Given the description of an element on the screen output the (x, y) to click on. 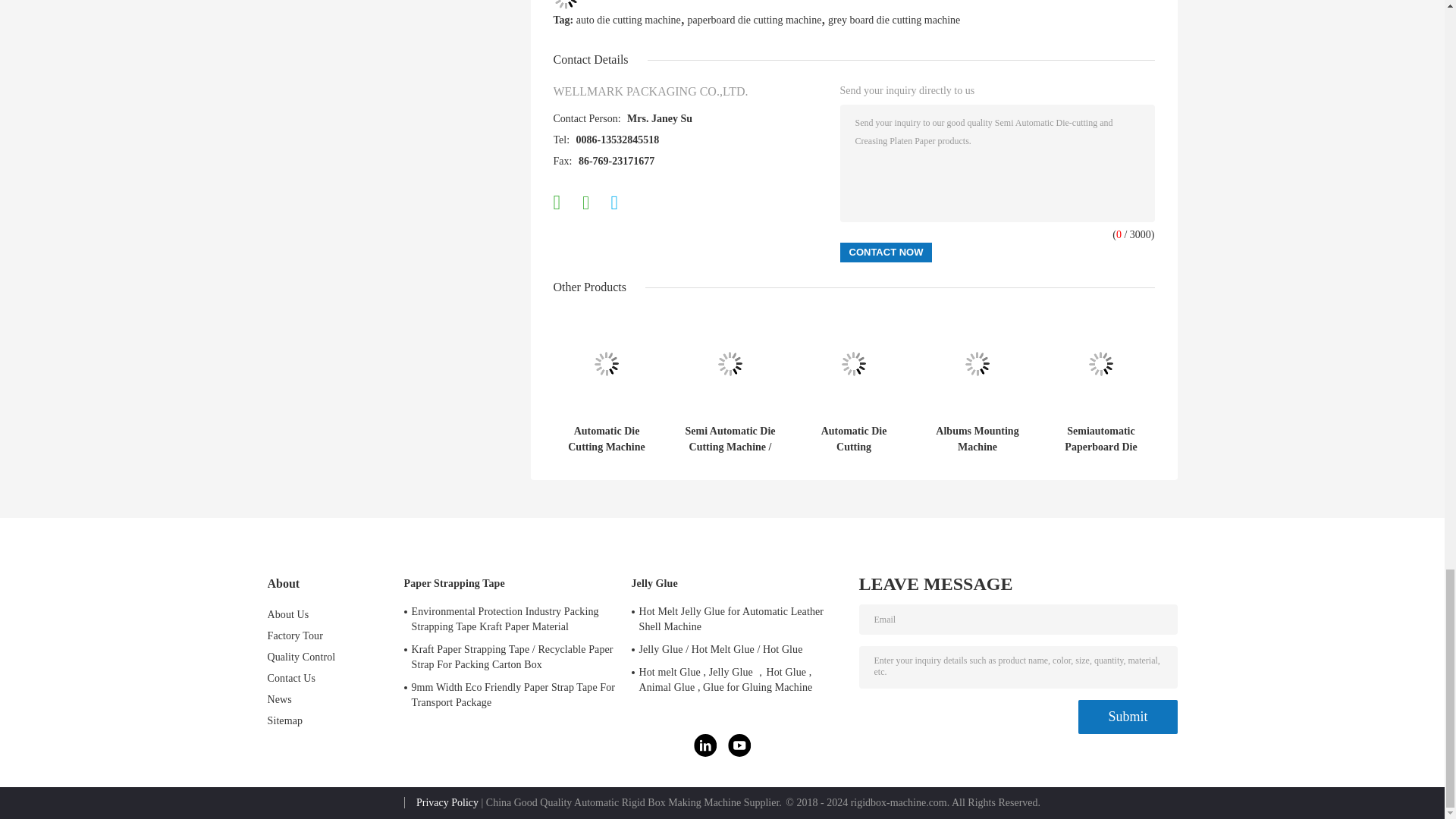
Submit (1127, 716)
Contact Now (886, 252)
